Given the description of an element on the screen output the (x, y) to click on. 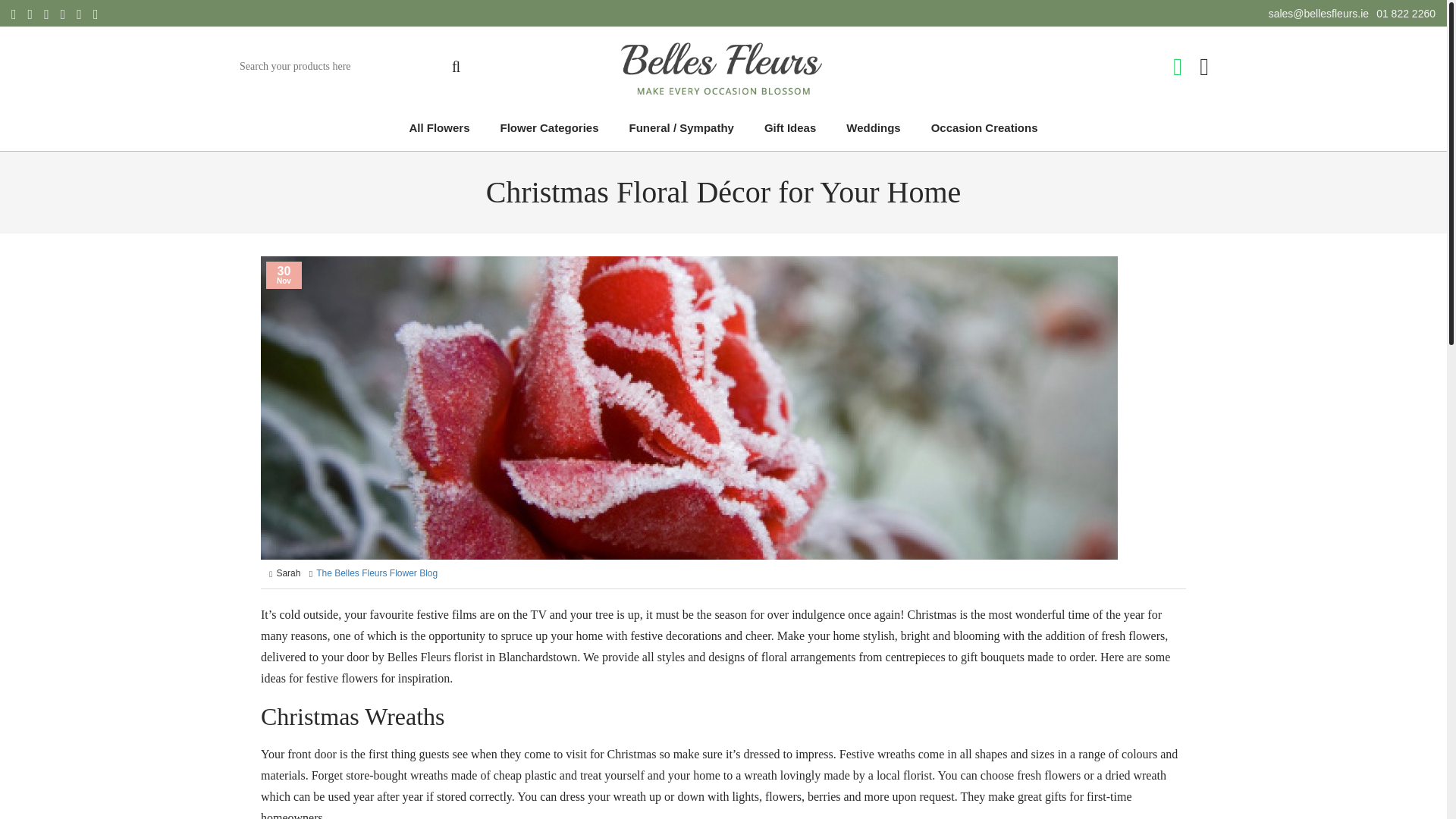
Belles Fleurs Flowers (722, 69)
Weddings (873, 127)
Occasion Creations (983, 127)
All Flowers (438, 127)
Flower Categories (548, 127)
Gift Ideas (790, 127)
01 822 2260 (1406, 14)
